Given the description of an element on the screen output the (x, y) to click on. 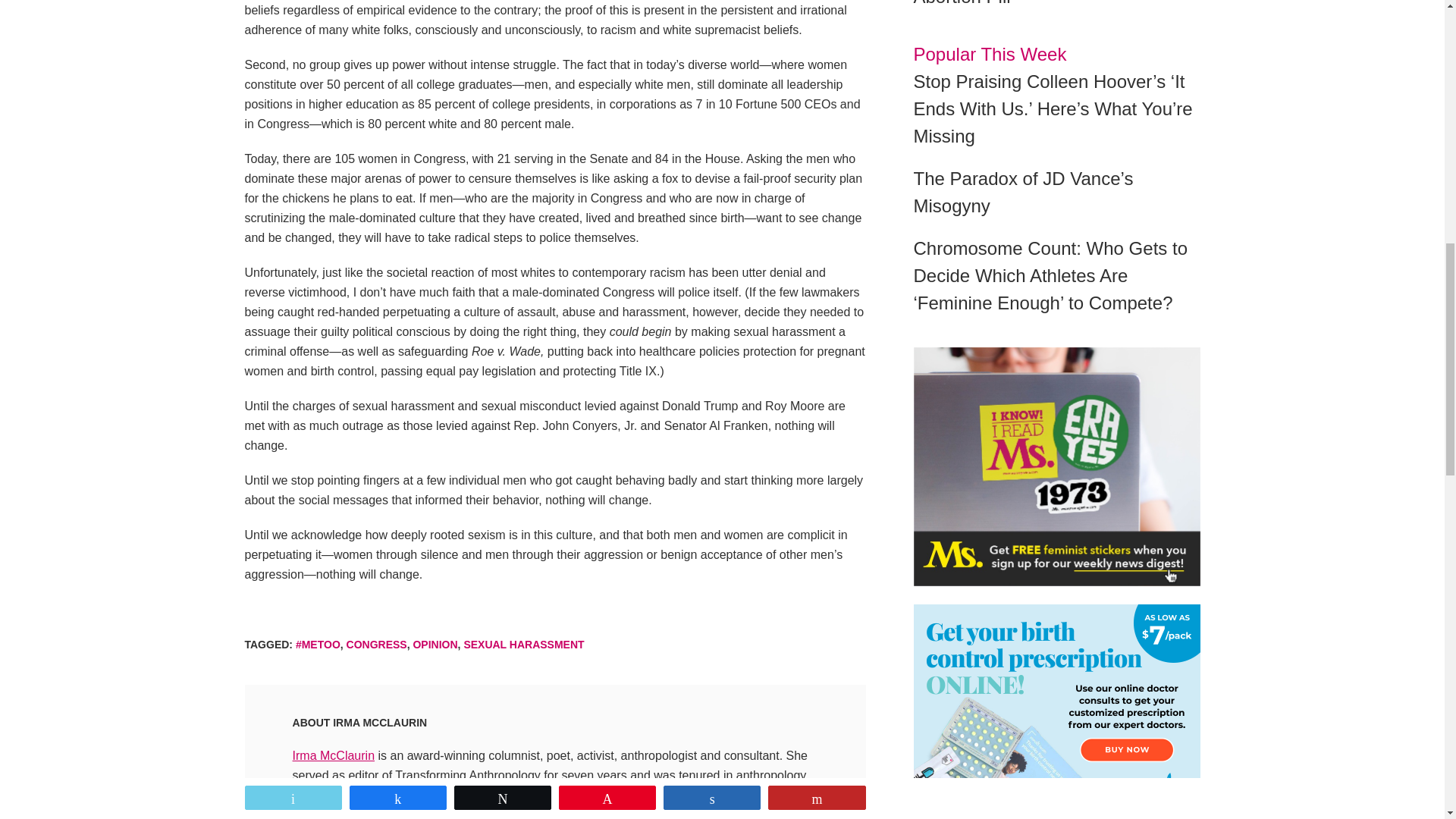
CONGRESS (376, 644)
SEXUAL HARASSMENT (523, 644)
OPINION (434, 644)
IRMA MCCLAURIN (379, 722)
Posts by Irma McClaurin (379, 722)
